Given the description of an element on the screen output the (x, y) to click on. 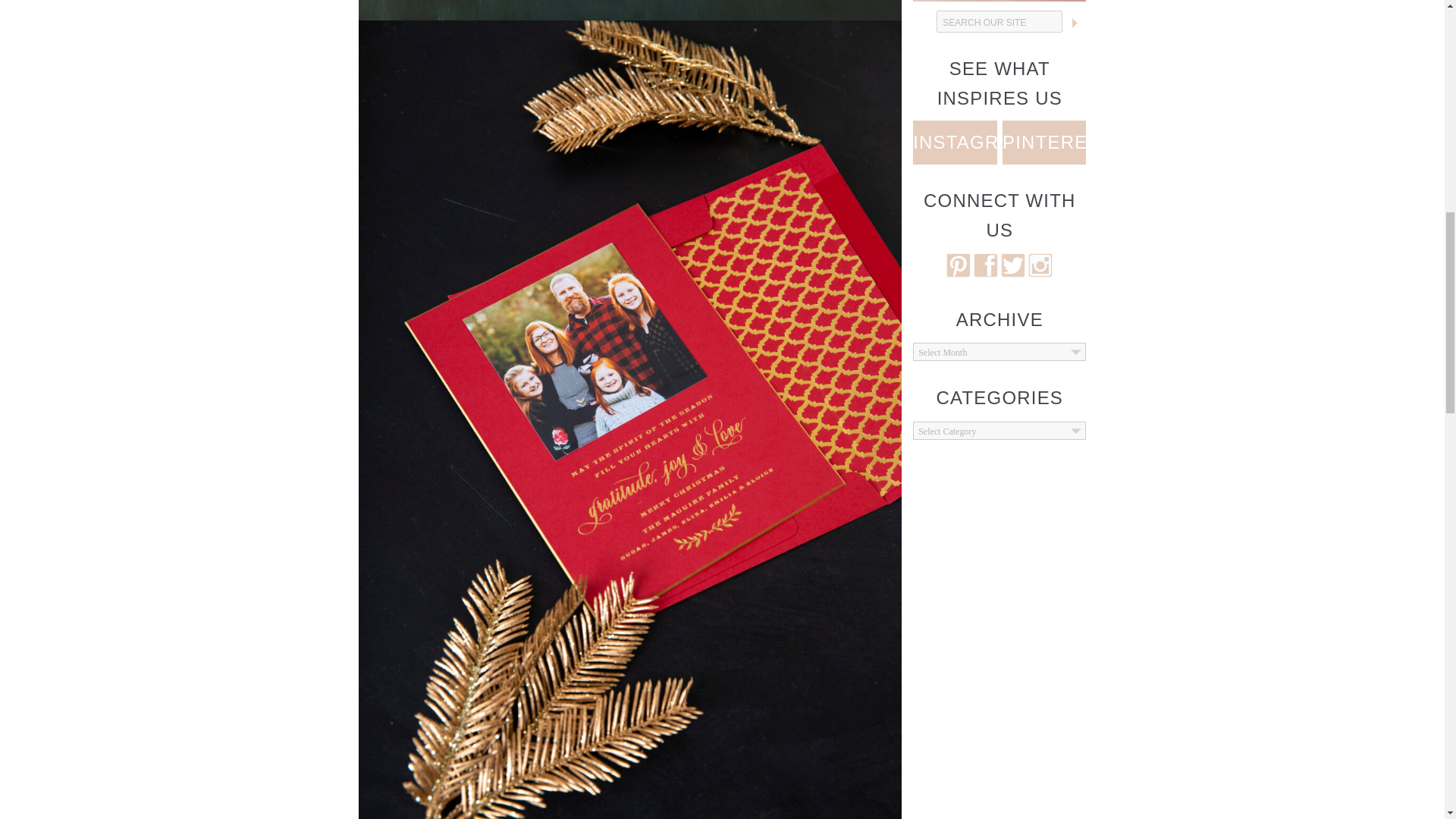
Twitter (1013, 273)
Pinterest (958, 273)
Facebook (985, 273)
Instagram (1039, 273)
Pinterest (1044, 142)
Instagram (953, 142)
